Given the description of an element on the screen output the (x, y) to click on. 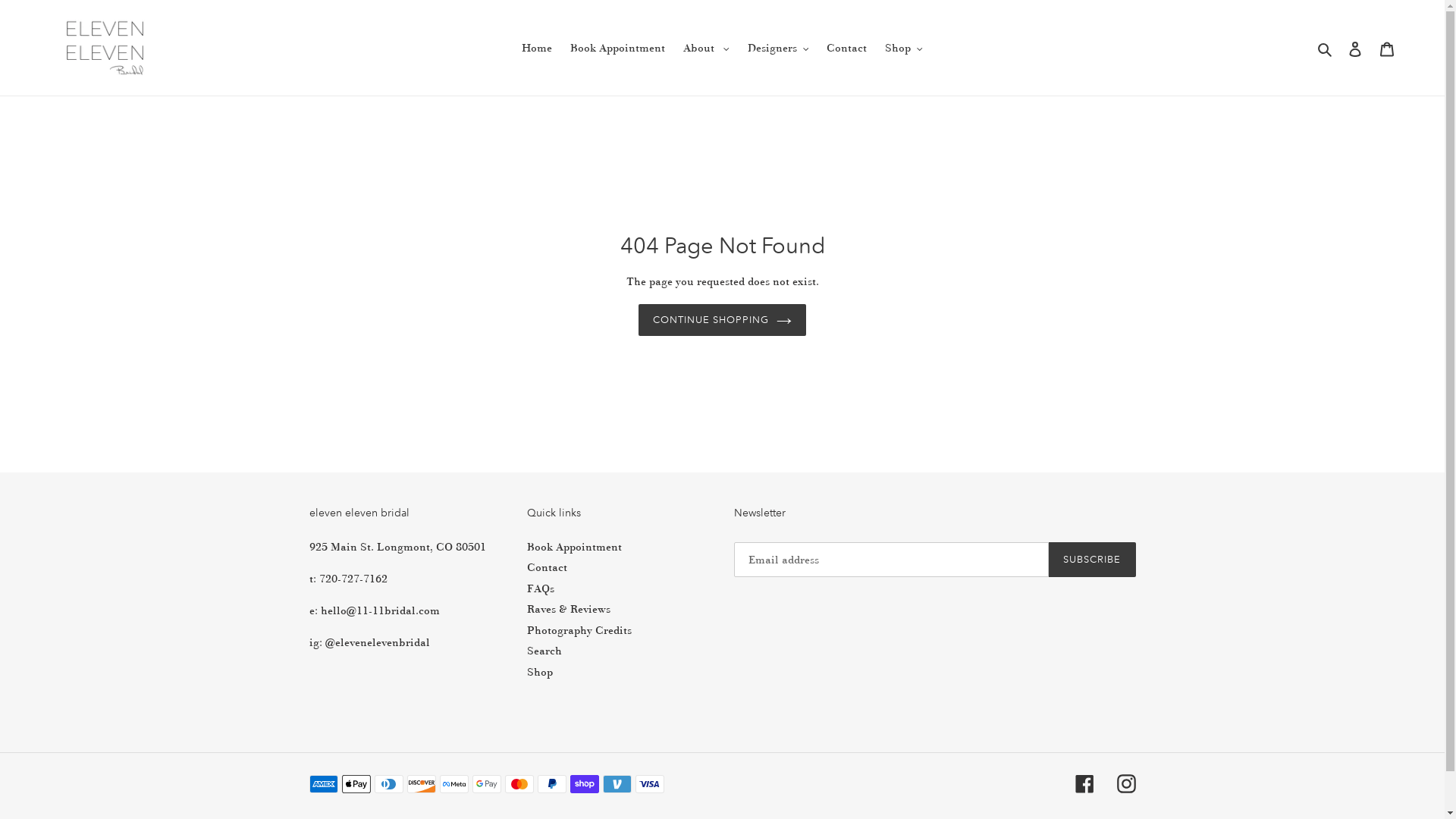
Shop Element type: text (903, 48)
CONTINUE SHOPPING Element type: text (722, 319)
Designers Element type: text (778, 48)
Contact Element type: text (547, 567)
Cart Element type: text (1386, 47)
Contact Element type: text (846, 48)
Home Element type: text (536, 48)
Search Element type: text (1325, 47)
Shop Element type: text (539, 671)
Instagram Element type: text (1125, 783)
Raves & Reviews Element type: text (568, 608)
SUBSCRIBE Element type: text (1091, 559)
Photography Credits Element type: text (579, 630)
Book Appointment Element type: text (574, 546)
Book Appointment Element type: text (617, 48)
Facebook Element type: text (1084, 783)
About Element type: text (706, 48)
FAQs Element type: text (540, 588)
Log in Element type: text (1355, 47)
Search Element type: text (544, 650)
